Given the description of an element on the screen output the (x, y) to click on. 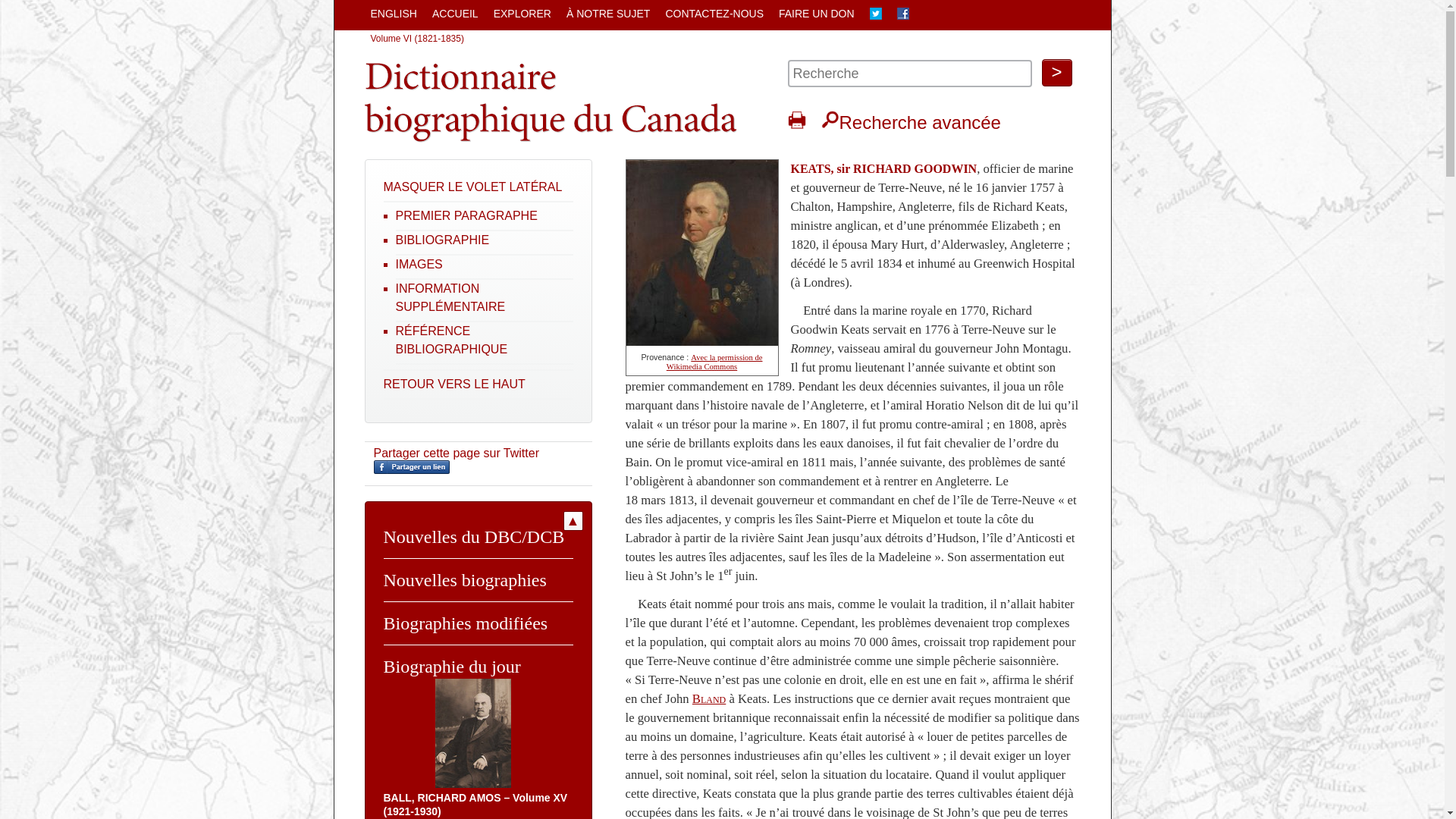
Volume VI (1821-1835) Element type: text (416, 38)
ENGLISH Element type: text (393, 13)
Version imprimable Element type: hover (796, 122)
Suivez-nous sur Facebook Element type: hover (903, 14)
ACCUEIL Element type: text (455, 13)
IMAGES Element type: text (418, 263)
BIBLIOGRAPHIE Element type: text (442, 239)
RETOUR VERS LE HAUT Element type: text (454, 383)
Nouvelles du DBC/DCB Element type: text (473, 536)
Partager cette page sur Facebook Element type: hover (410, 469)
Nouvelles biographies Element type: text (464, 579)
Bland Element type: text (708, 698)
FAIRE UN DON Element type: text (816, 13)
EXPLORER Element type: text (522, 13)
CONTACTEZ-NOUS Element type: text (714, 13)
PREMIER PARAGRAPHE Element type: text (466, 215)
Partager cette page sur Twitter Element type: text (455, 452)
Version imprimable Element type: hover (796, 119)
Biographie du jour Element type: text (451, 666)
Avec la permission de Wikimedia Commons Element type: text (714, 361)
Suivez-nous sur Twitter Element type: hover (875, 14)
